Given the description of an element on the screen output the (x, y) to click on. 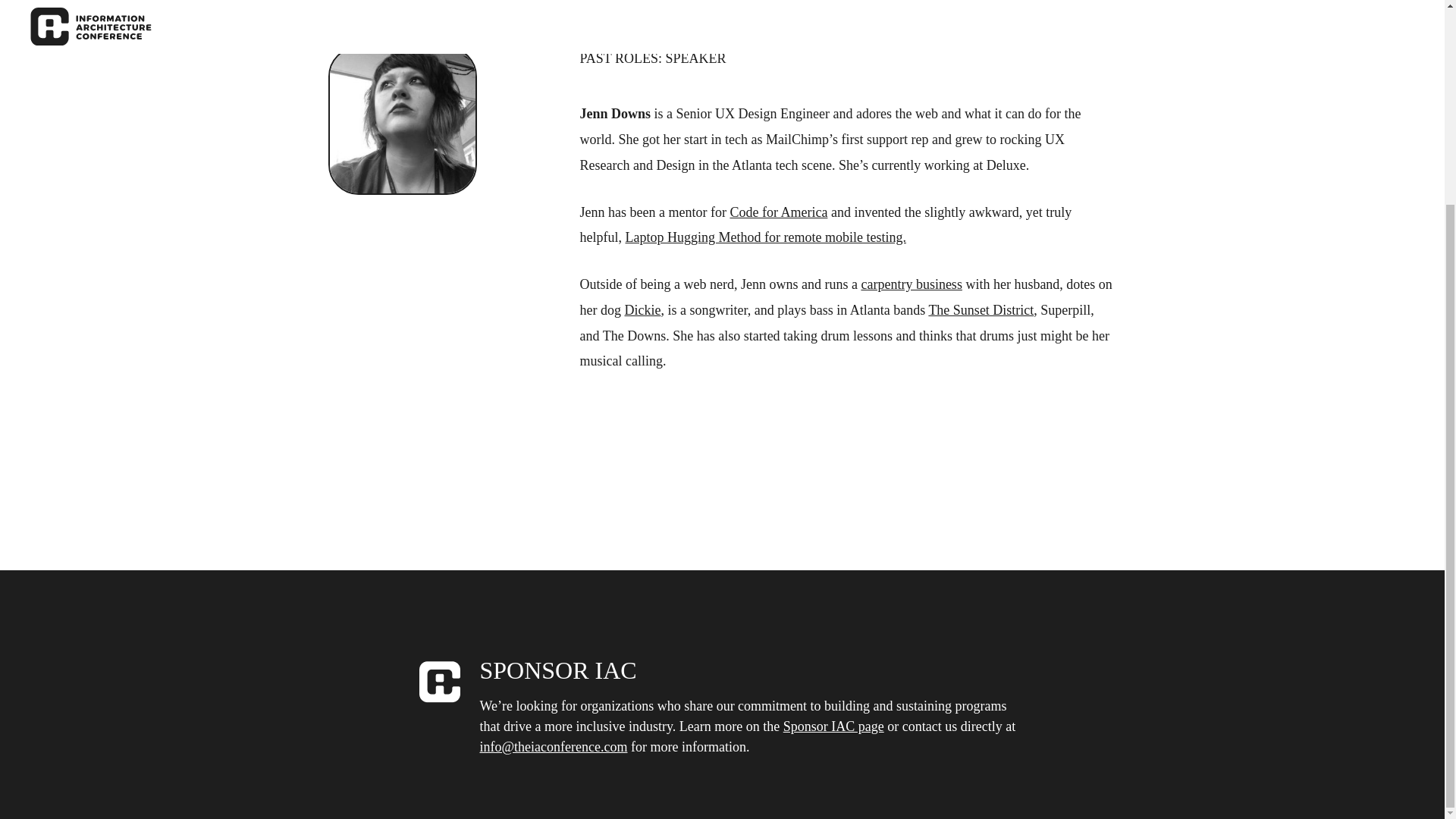
Sponsor IAC page (833, 727)
Code for America (778, 212)
The Sunset District (980, 309)
Sponsor IAC (833, 727)
Dickie (642, 309)
Laptop Hugging Method for remote mobile testing. (764, 237)
carpentry business (910, 283)
